Given the description of an element on the screen output the (x, y) to click on. 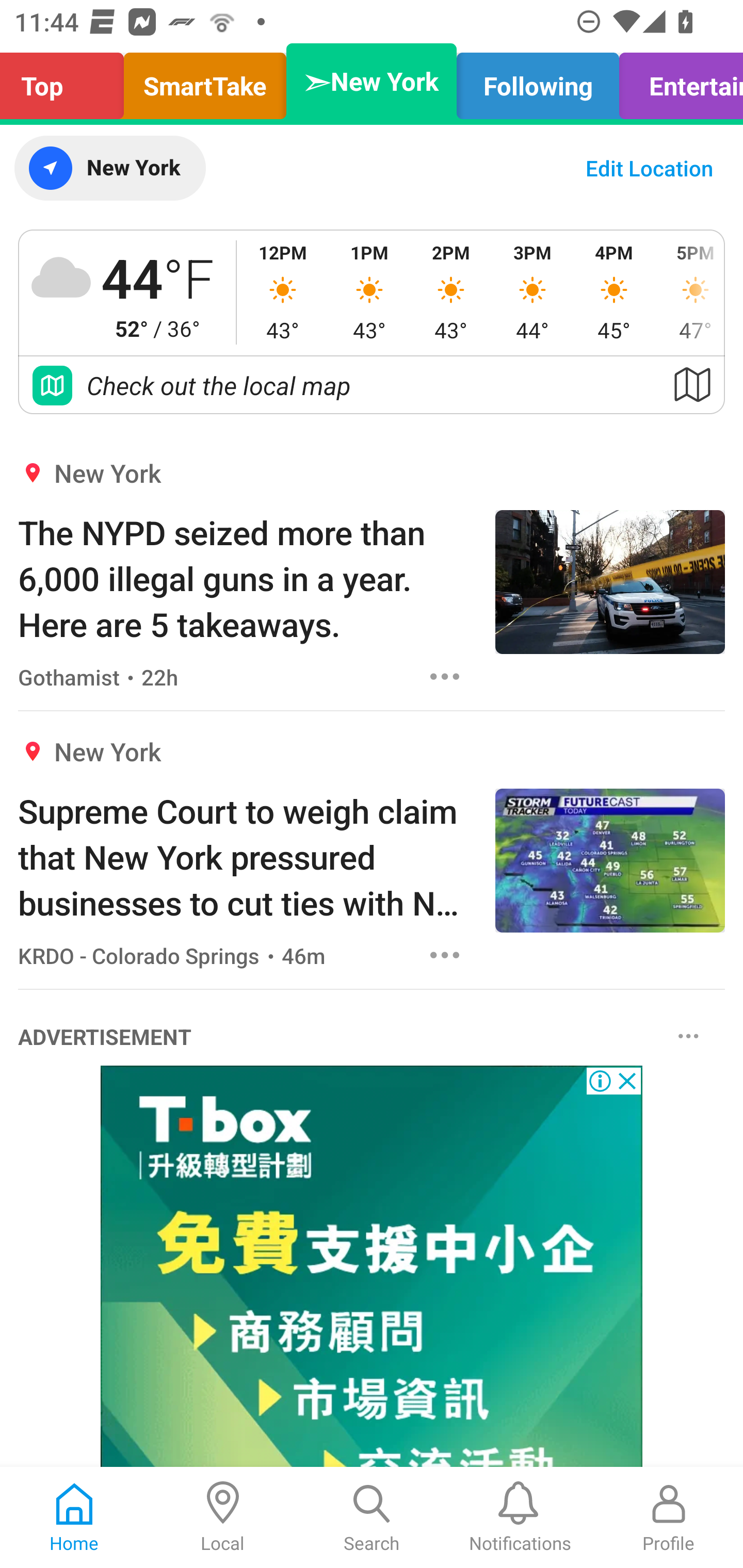
Top (67, 81)
SmartTake (204, 81)
➣New York (371, 81)
Following (537, 81)
New York (109, 168)
Edit Location (648, 168)
12PM 43° (282, 291)
1PM 43° (369, 291)
2PM 43° (450, 291)
3PM 44° (532, 291)
4PM 45° (613, 291)
5PM 47° (689, 291)
Check out the local map (371, 384)
Options (444, 676)
Options (444, 954)
Options (688, 1035)
tbox%3FDCSext (371, 1266)
Local (222, 1517)
Search (371, 1517)
Notifications (519, 1517)
Profile (668, 1517)
